Given the description of an element on the screen output the (x, y) to click on. 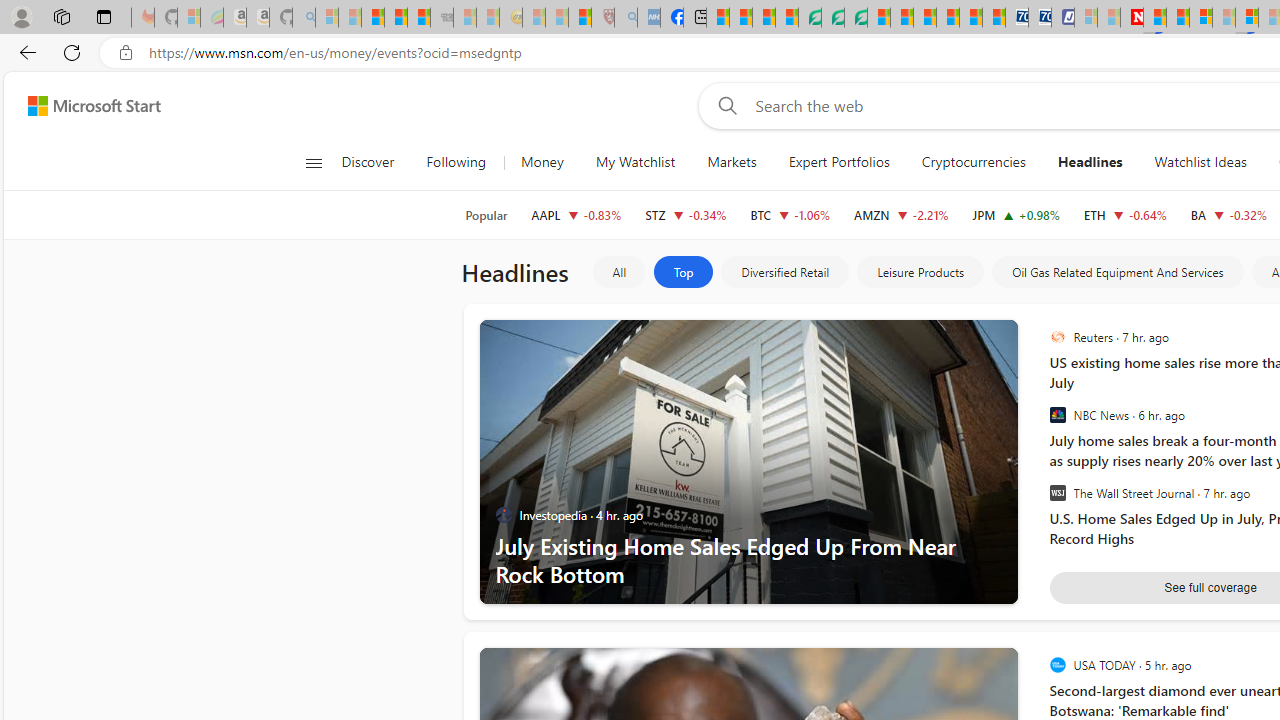
Cheap Hotels - Save70.com (1039, 17)
LendingTree - Compare Lenders (809, 17)
STZ CONSTELLATION BRANDS, INC. decrease 243.92 -0.82 -0.34% (685, 214)
Popular (486, 215)
Expert Portfolios (838, 162)
Money (541, 162)
World - MSN (763, 17)
Markets (731, 162)
Money (541, 162)
14 Common Myths Debunked By Scientific Facts (1178, 17)
